Given the description of an element on the screen output the (x, y) to click on. 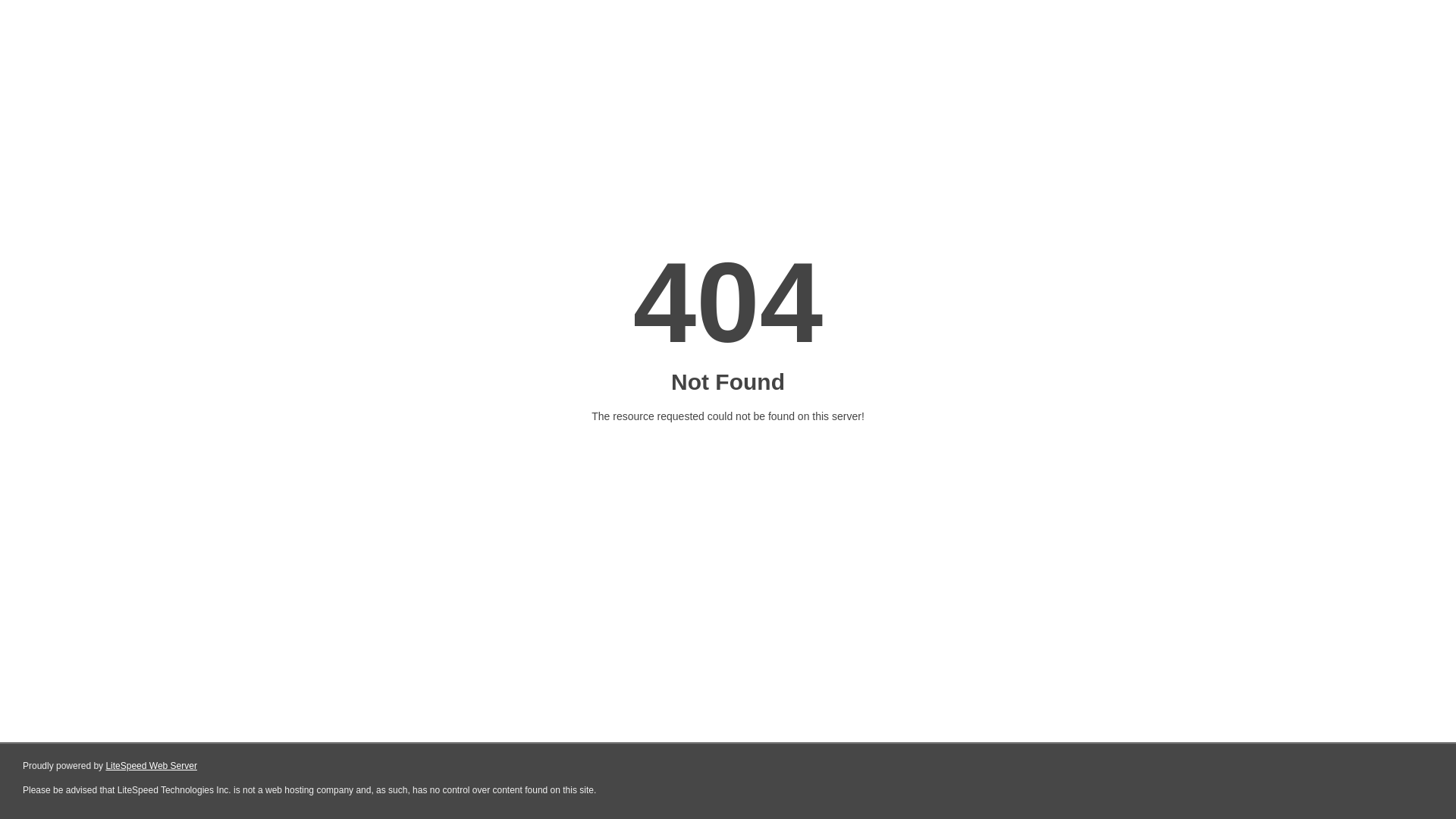
LiteSpeed Web Server Element type: text (151, 765)
